Given the description of an element on the screen output the (x, y) to click on. 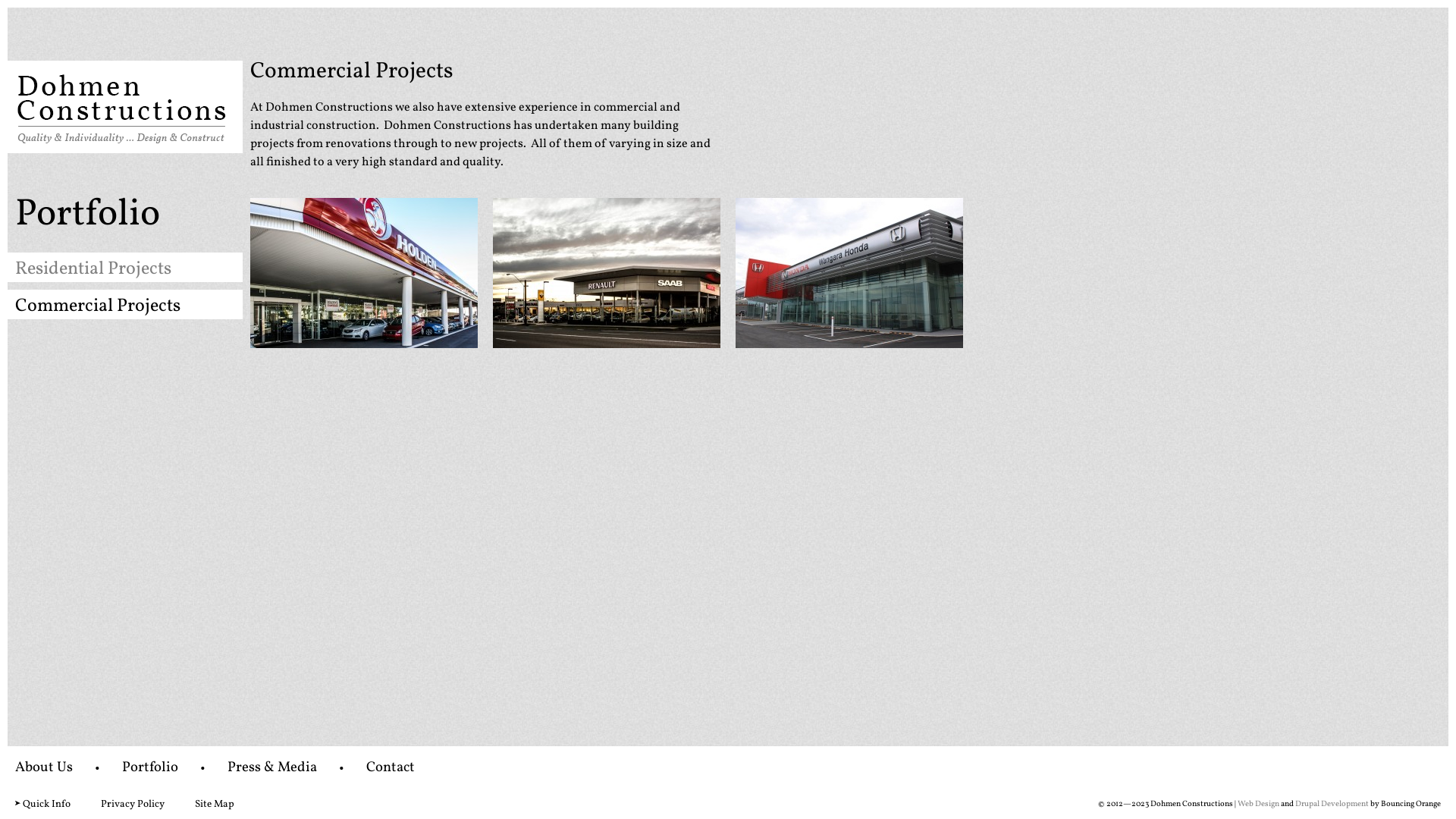
Portfolio Element type: text (150, 767)
Press & Media Element type: text (271, 767)
Residential Projects Element type: text (93, 269)
Osborne Park
~
Discover the project Element type: text (606, 272)
Contact Element type: text (390, 767)
Quick Info Element type: text (46, 804)
About Us Element type: text (43, 767)
Web Design Element type: text (1258, 803)
Privacy Policy Element type: text (132, 804)
Commercial Projects Element type: text (97, 306)
Wangara
~
Discover the project Element type: text (849, 272)
Site Map Element type: text (214, 804)
Drupal Development Element type: text (1331, 803)
Cannington
~
Discover the project Element type: text (363, 272)
